Given the description of an element on the screen output the (x, y) to click on. 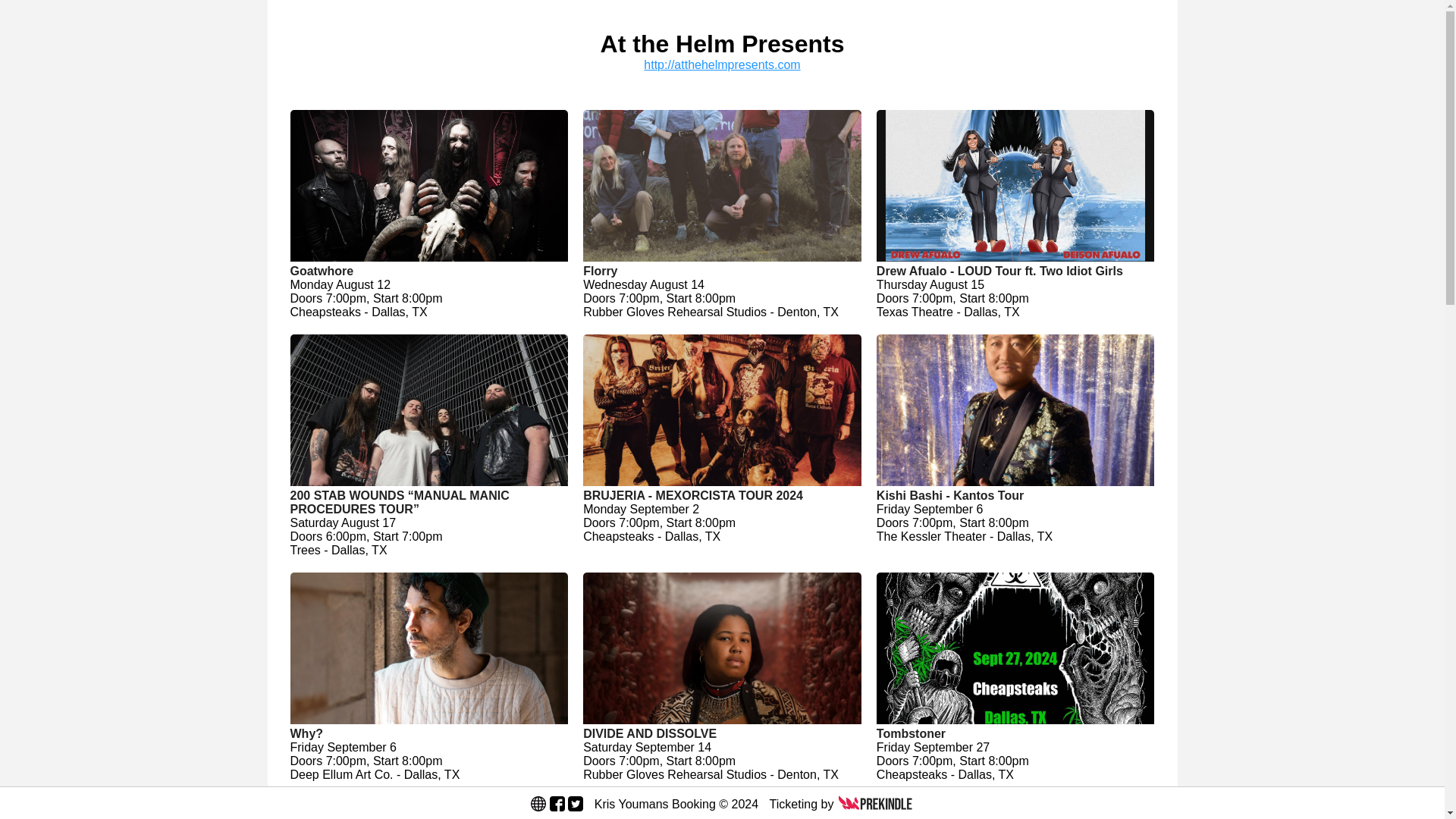
Drew Afualo - LOUD Tour ft. Two Idiot Girls (1015, 271)
Why? (428, 734)
DIVIDE AND DISSOLVE (722, 734)
Florry (722, 271)
Tombstoner (1015, 734)
BRUJERIA - MEXORCISTA TOUR 2024 (722, 495)
Kishi Bashi - Kantos Tour (1015, 495)
Goatwhore (428, 271)
